Given the description of an element on the screen output the (x, y) to click on. 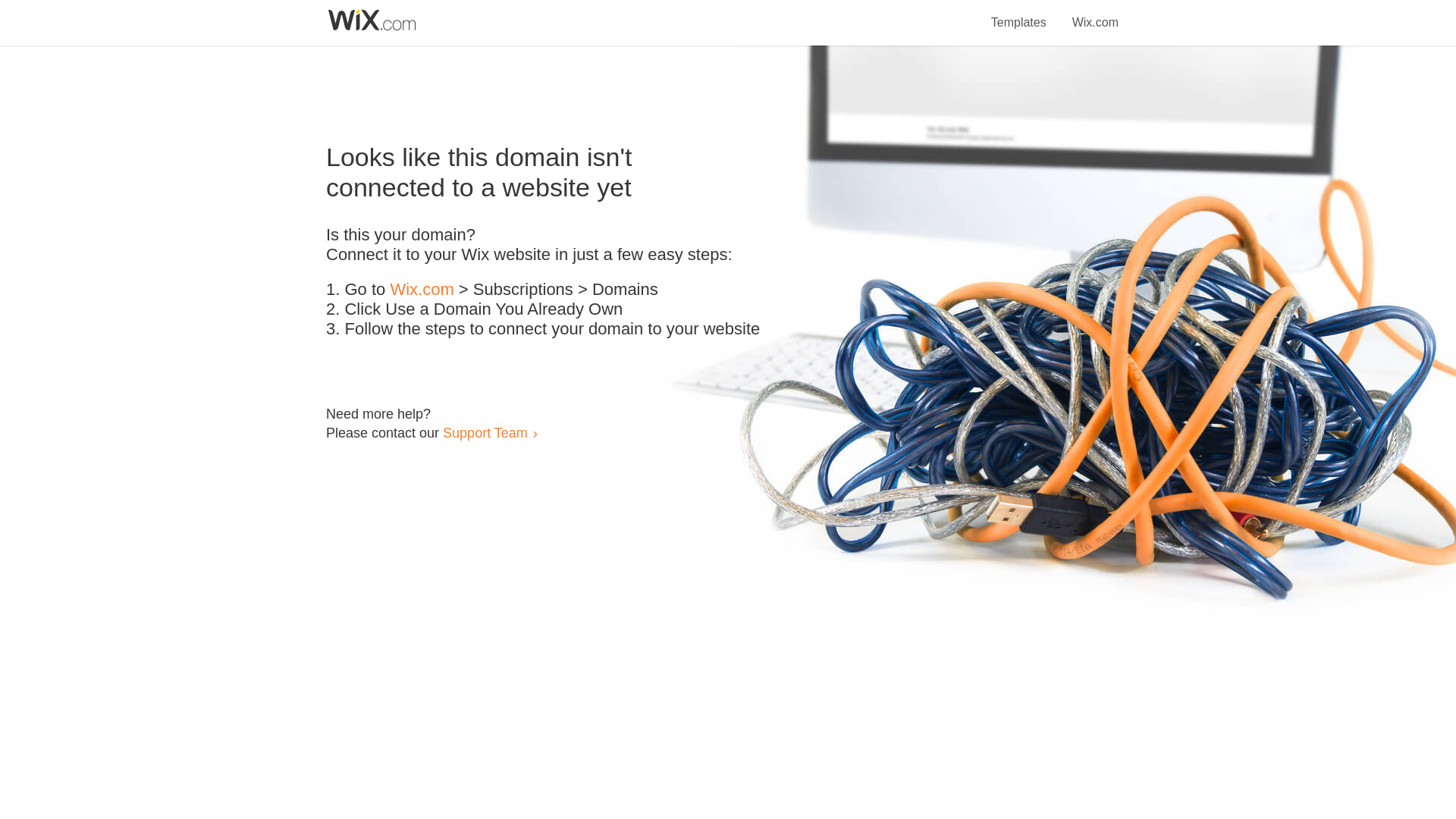
Wix.com (1095, 14)
Templates (1018, 14)
Wix.com (421, 289)
Support Team (484, 432)
